Given the description of an element on the screen output the (x, y) to click on. 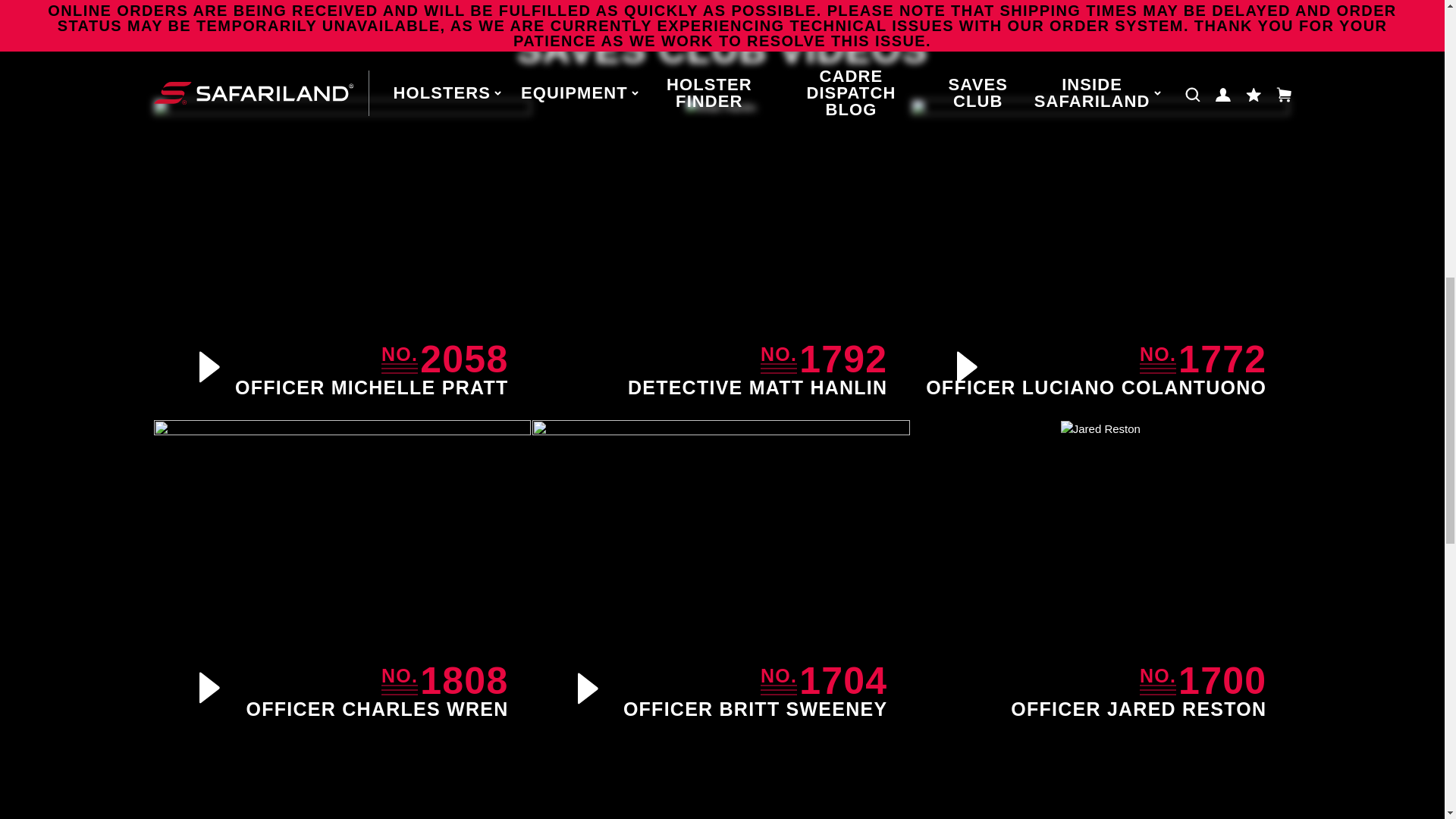
Number (778, 680)
Number (778, 358)
Number (399, 358)
Number (399, 680)
Number (1158, 358)
Number (1158, 680)
